Given the description of an element on the screen output the (x, y) to click on. 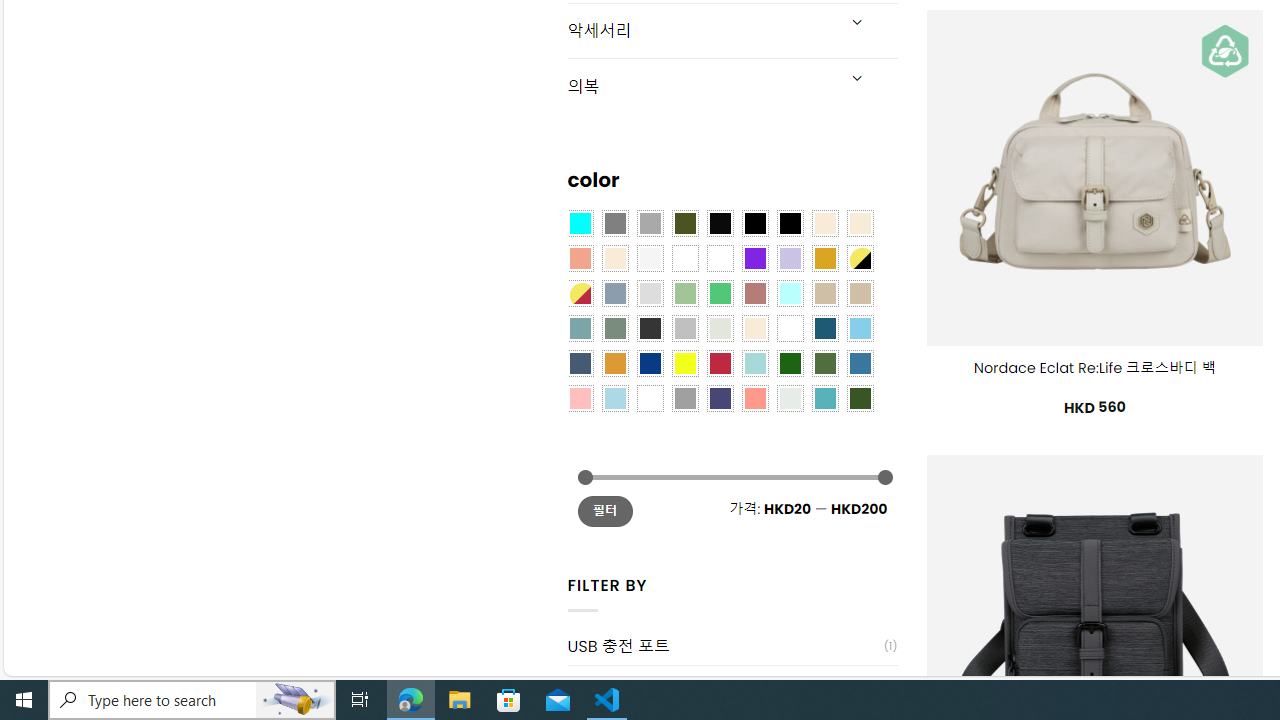
Kelp (719, 257)
Dull Nickle (789, 398)
